Given the description of an element on the screen output the (x, y) to click on. 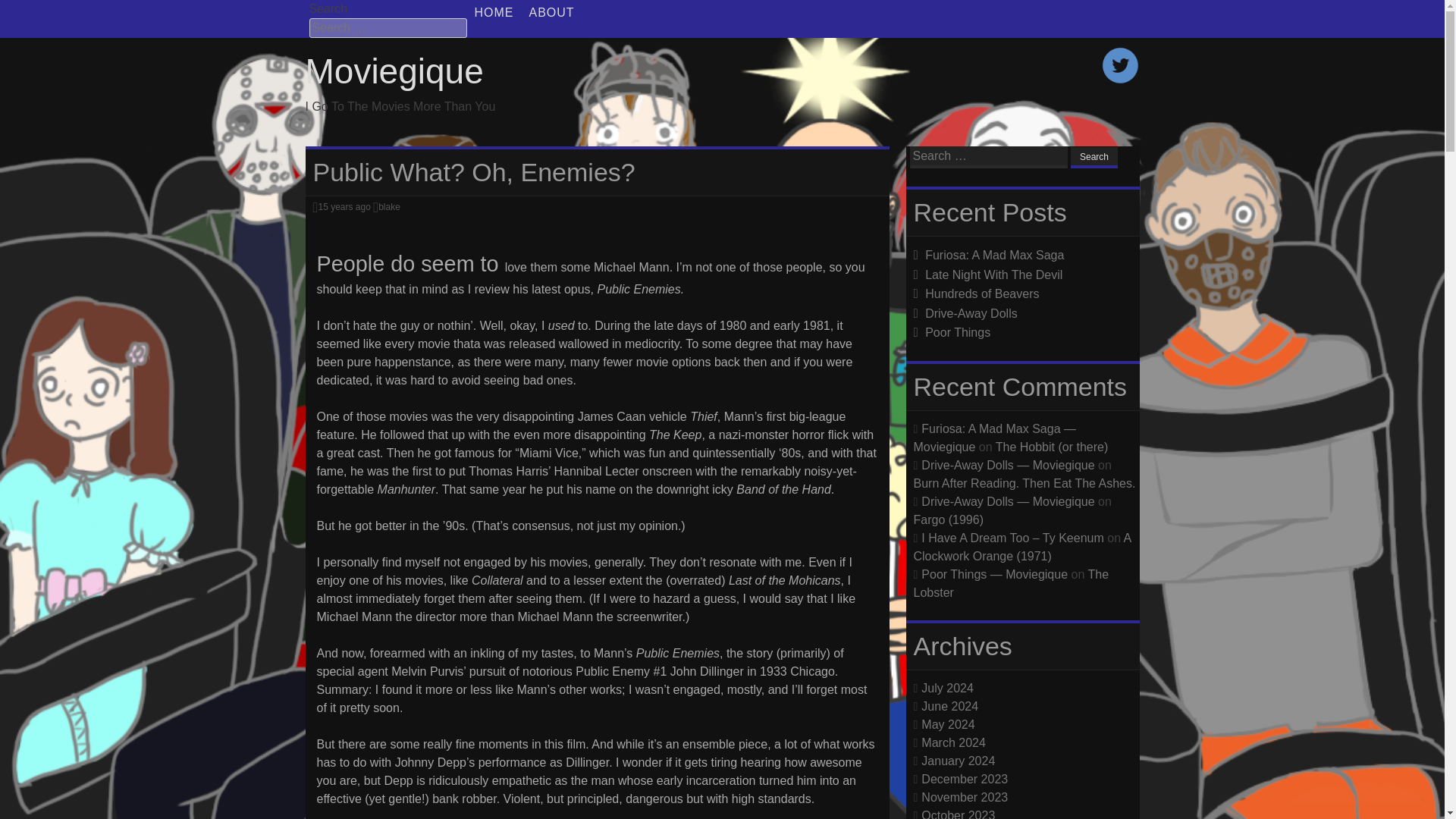
Search (1094, 157)
Search for: (988, 157)
March 2024 (953, 741)
May 2024 (947, 723)
November 2023 (964, 796)
15 years ago (343, 206)
July 2024 (947, 686)
ABOUT (551, 12)
blake (389, 206)
The Lobster (1010, 582)
